Given the description of an element on the screen output the (x, y) to click on. 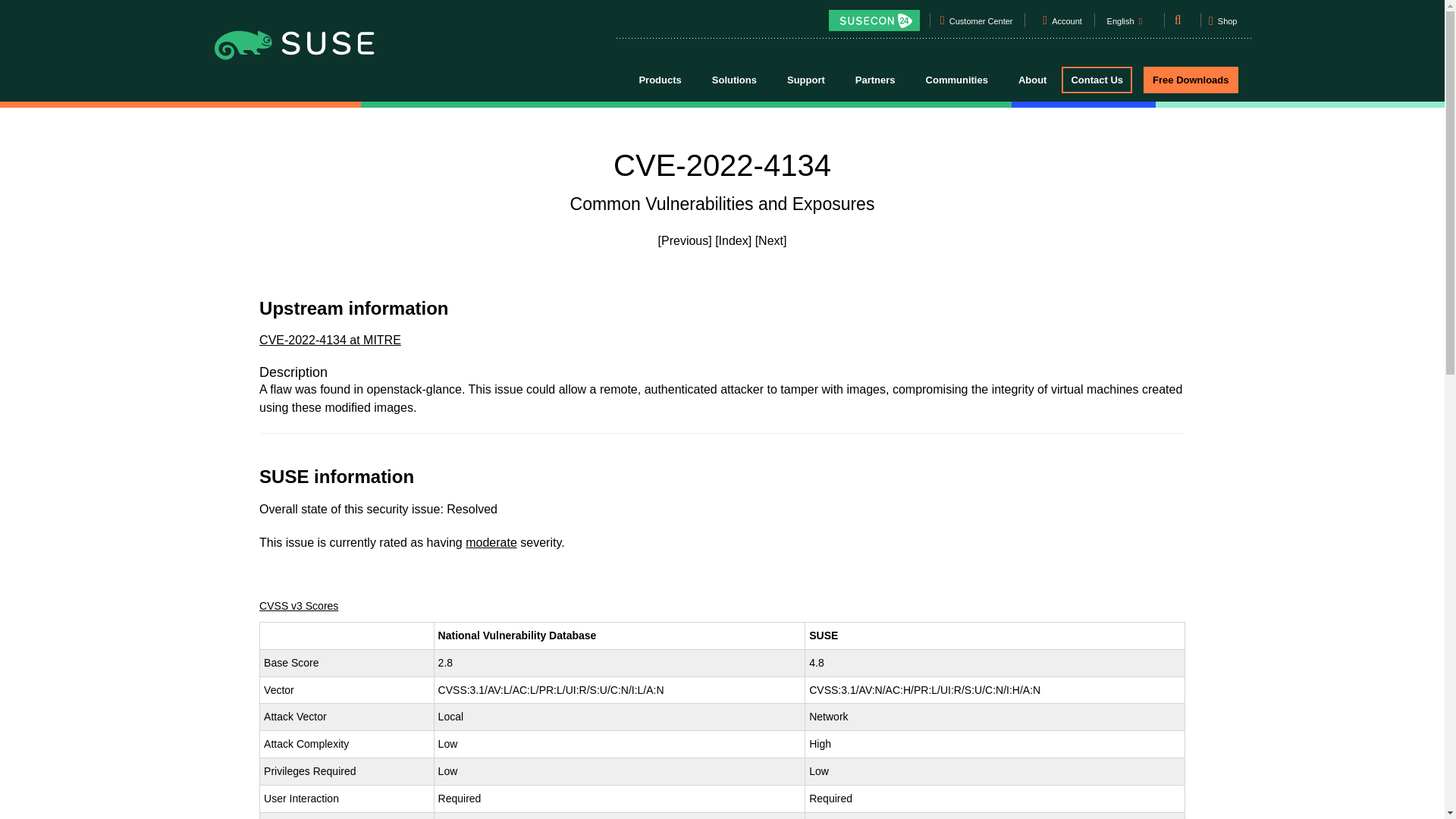
Shop (1222, 25)
Account (1066, 23)
Customer Center (980, 23)
